Given the description of an element on the screen output the (x, y) to click on. 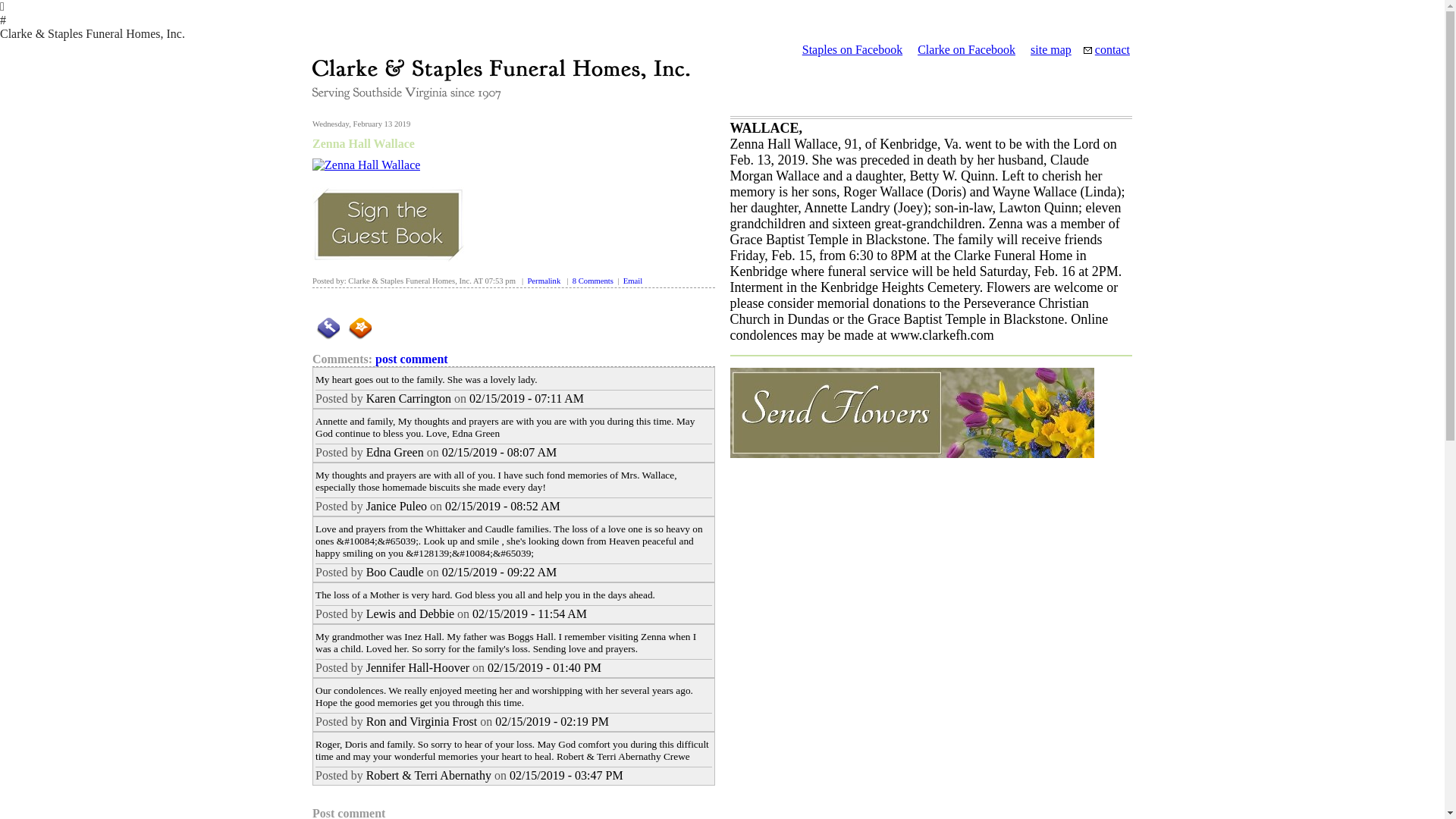
8 Comments (592, 280)
Staples on Facebook (852, 49)
contact (1111, 49)
Zenna Hall Wallace (363, 143)
Email (632, 280)
Clarke on Facebook (965, 49)
post comment (411, 358)
site map (1050, 49)
Permalink (543, 280)
